Given the description of an element on the screen output the (x, y) to click on. 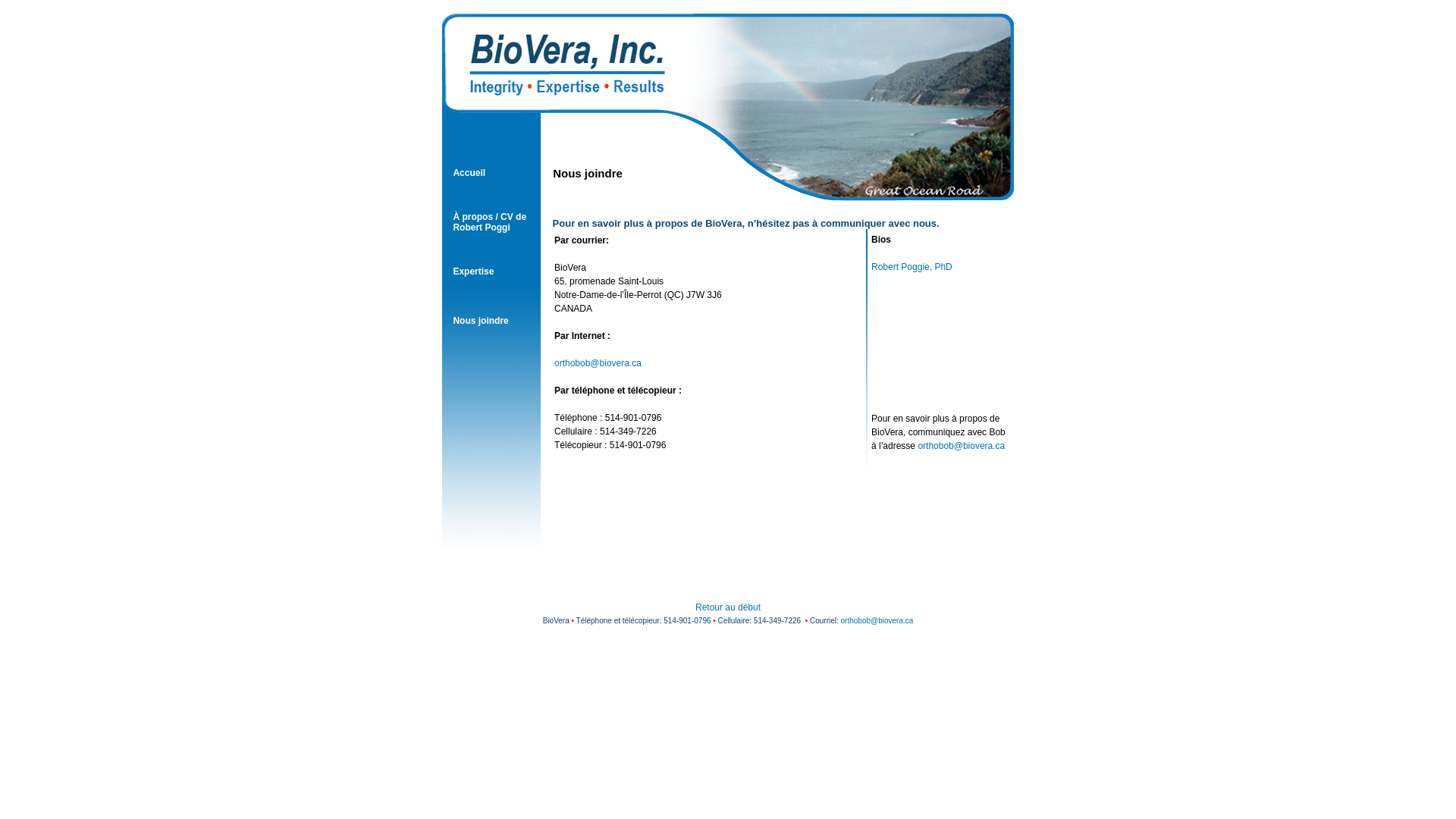
Robert Poggie, PhD Element type: text (911, 266)
  Element type: text (872, 375)
Nous joindre Element type: text (480, 320)
orthobob@biovera.ca Element type: text (876, 620)
orthobob@biovera.ca Element type: text (960, 445)
Expertise Element type: text (472, 270)
orthobob@biovera.ca Element type: text (597, 362)
  Element type: text (872, 348)
  Element type: text (872, 293)
  Element type: text (872, 321)
Accueil Element type: text (468, 171)
